Given the description of an element on the screen output the (x, y) to click on. 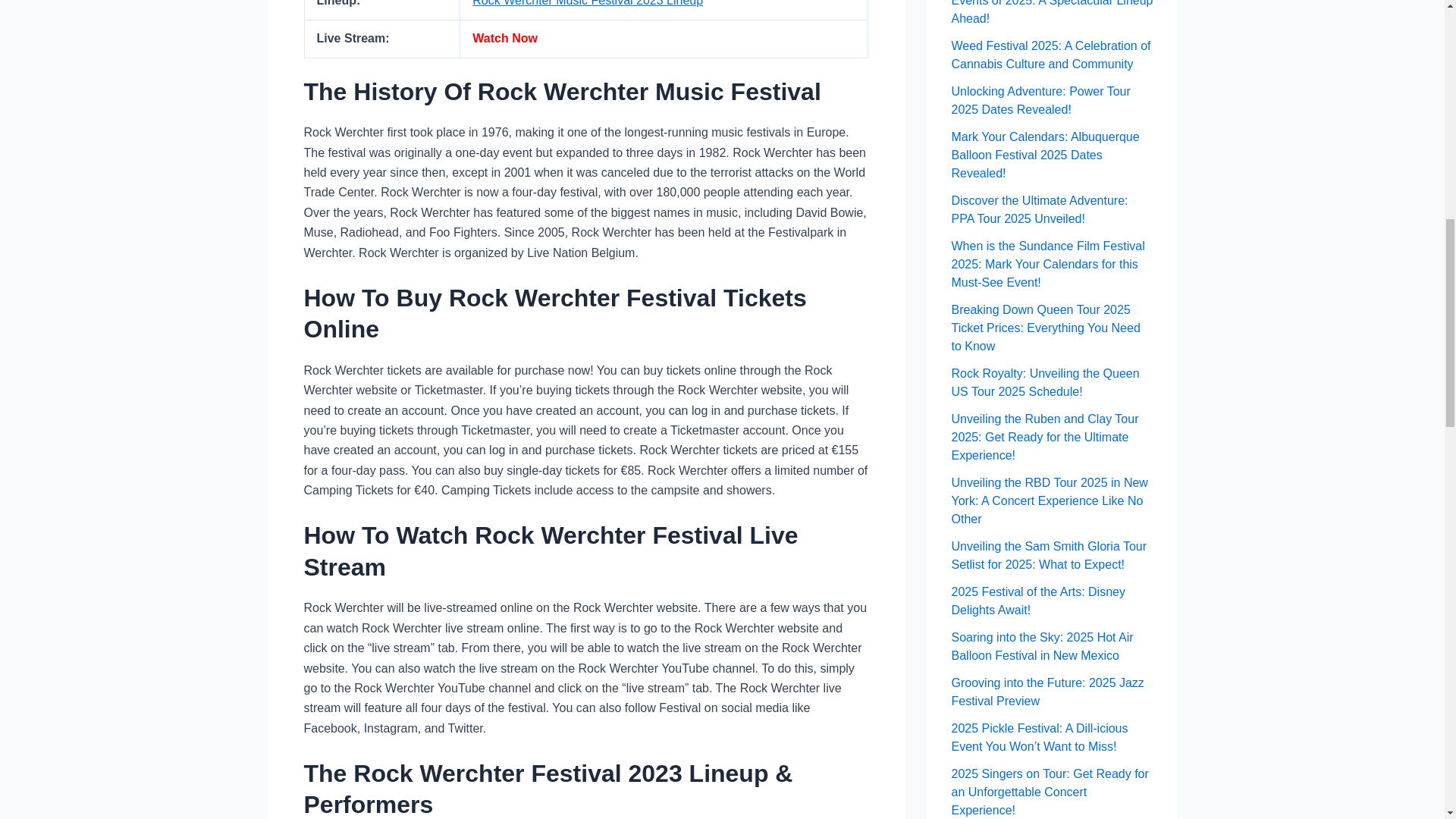
Rock Werchter Music Festival 2023 Lineup (587, 3)
